Given the description of an element on the screen output the (x, y) to click on. 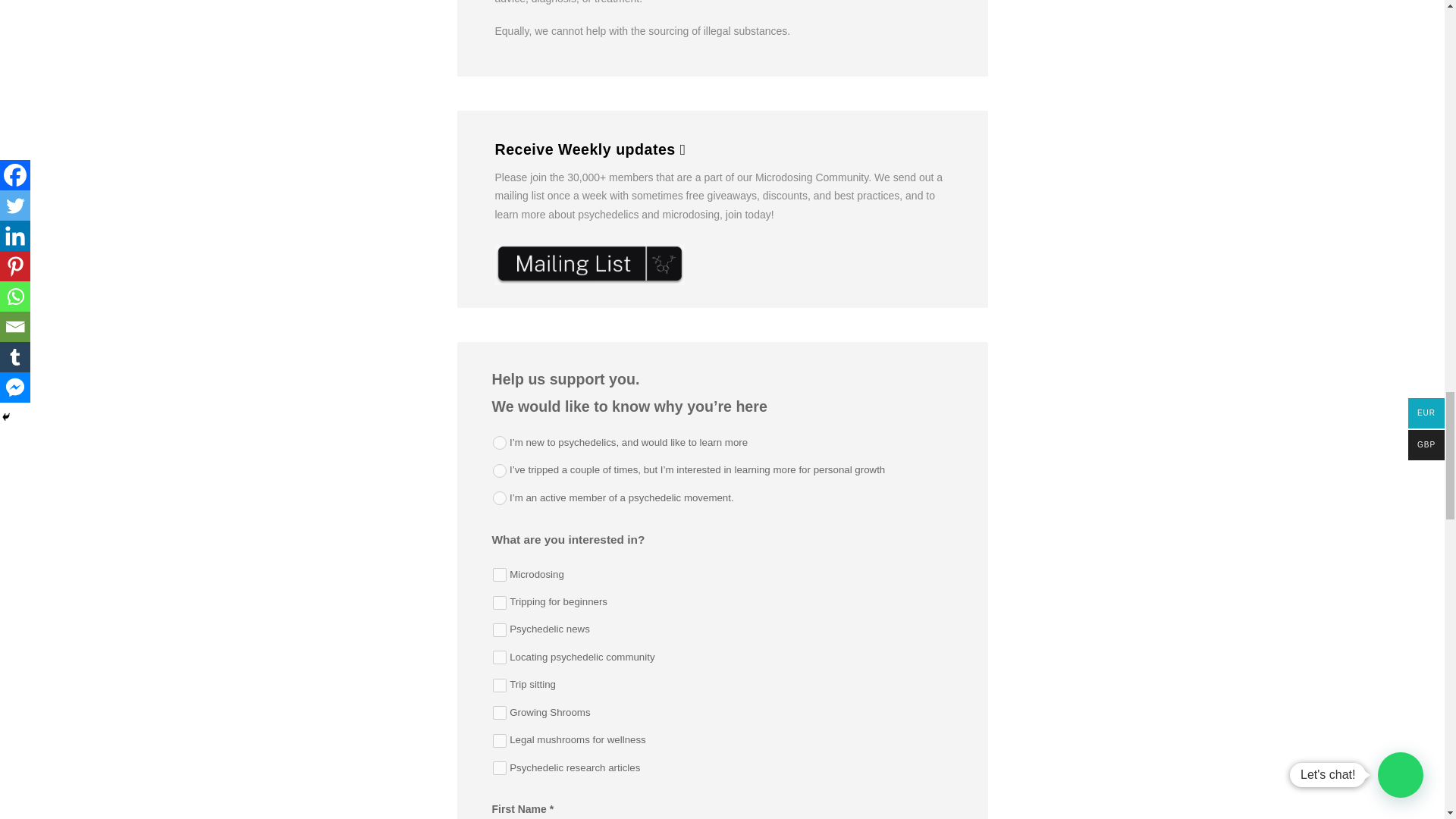
Trip sitting (499, 685)
Microdosing (499, 574)
Growing Shrooms (499, 712)
Tripping for beginners (499, 602)
Legal mushrooms for wellness (499, 740)
Locating psychedelic community (499, 657)
Psychedelic research articles (499, 767)
Psychedelic news (499, 630)
